Given the description of an element on the screen output the (x, y) to click on. 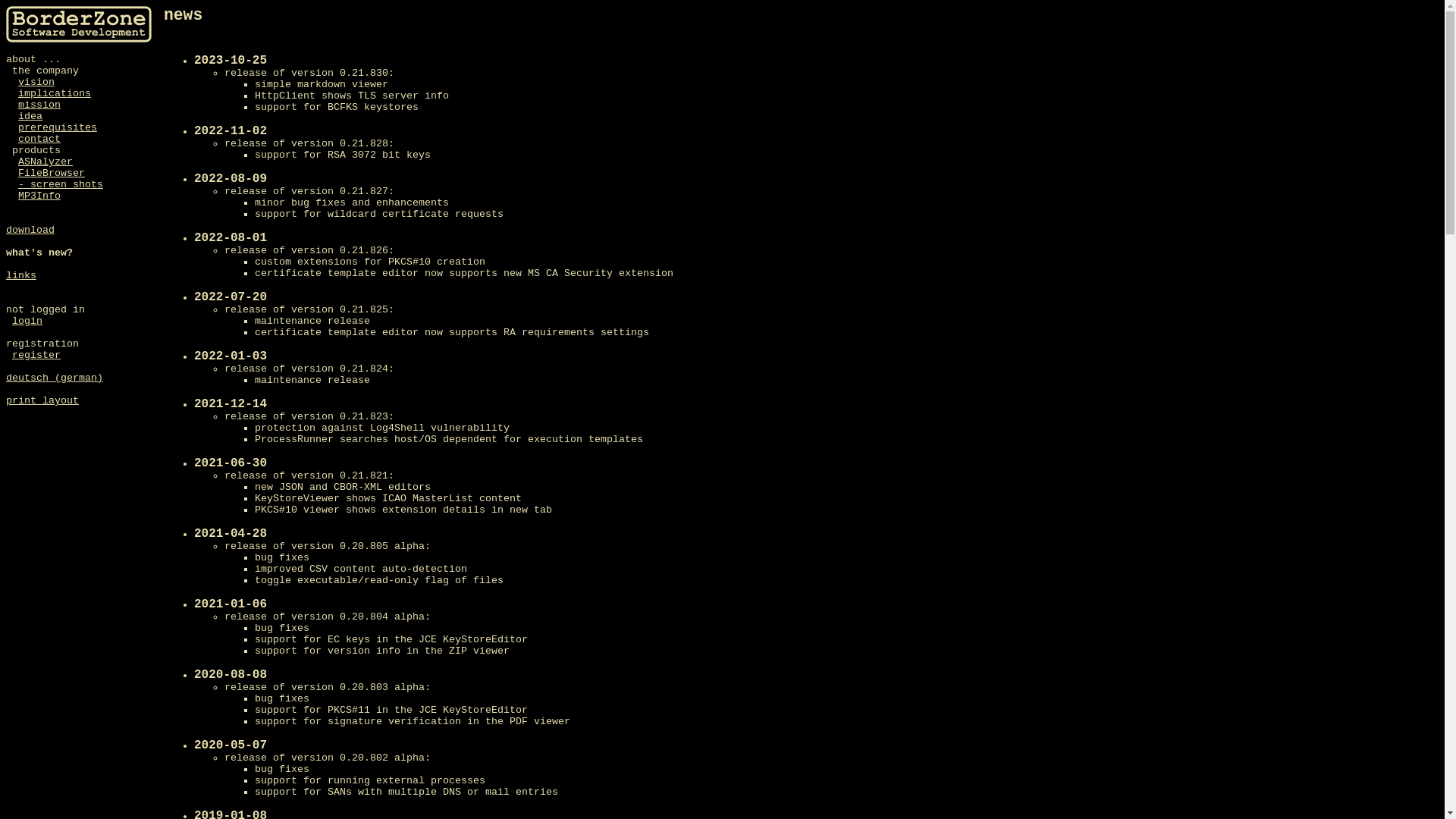
contact Element type: text (39, 138)
print layout Element type: text (42, 400)
idea Element type: text (30, 116)
vision Element type: text (36, 81)
login Element type: text (27, 320)
mission Element type: text (39, 104)
prerequisites Element type: text (57, 127)
BorderZone Company Logo Element type: hover (78, 24)
links Element type: text (21, 275)
implications Element type: text (54, 93)
- screen shots Element type: text (60, 184)
download Element type: text (30, 229)
FileBrowser Element type: text (51, 172)
MP3Info Element type: text (39, 195)
ASNalyzer Element type: text (45, 161)
deutsch (german) Element type: text (54, 377)
register Element type: text (36, 354)
